Given the description of an element on the screen output the (x, y) to click on. 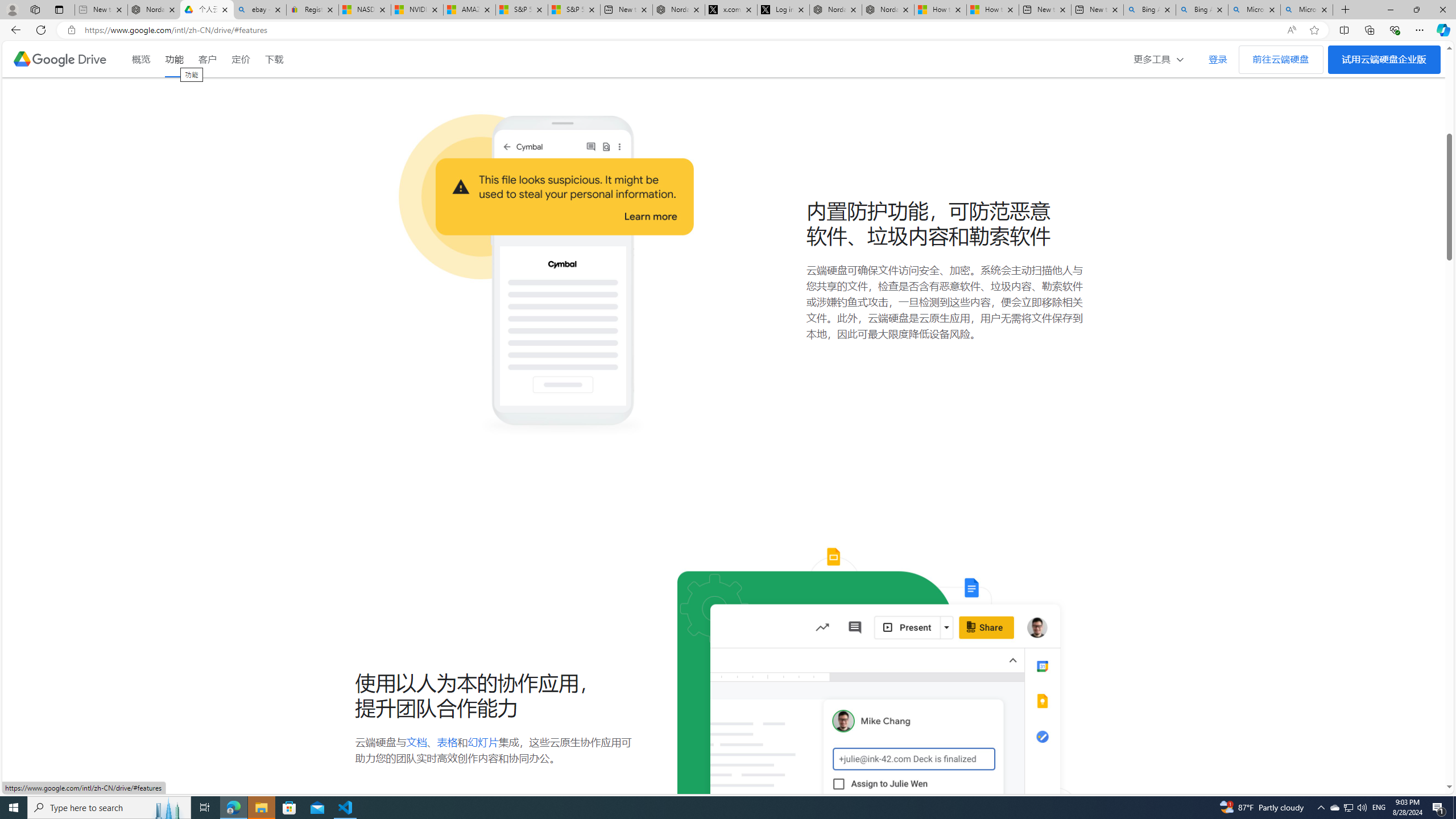
Register: Create a personal eBay account (312, 9)
S&P 500, Nasdaq end lower, weighed by Nvidia dip | Watch (574, 9)
Bing AI - Search (1201, 9)
How to Use a Monitor With Your Closed Laptop (992, 9)
